Given the description of an element on the screen output the (x, y) to click on. 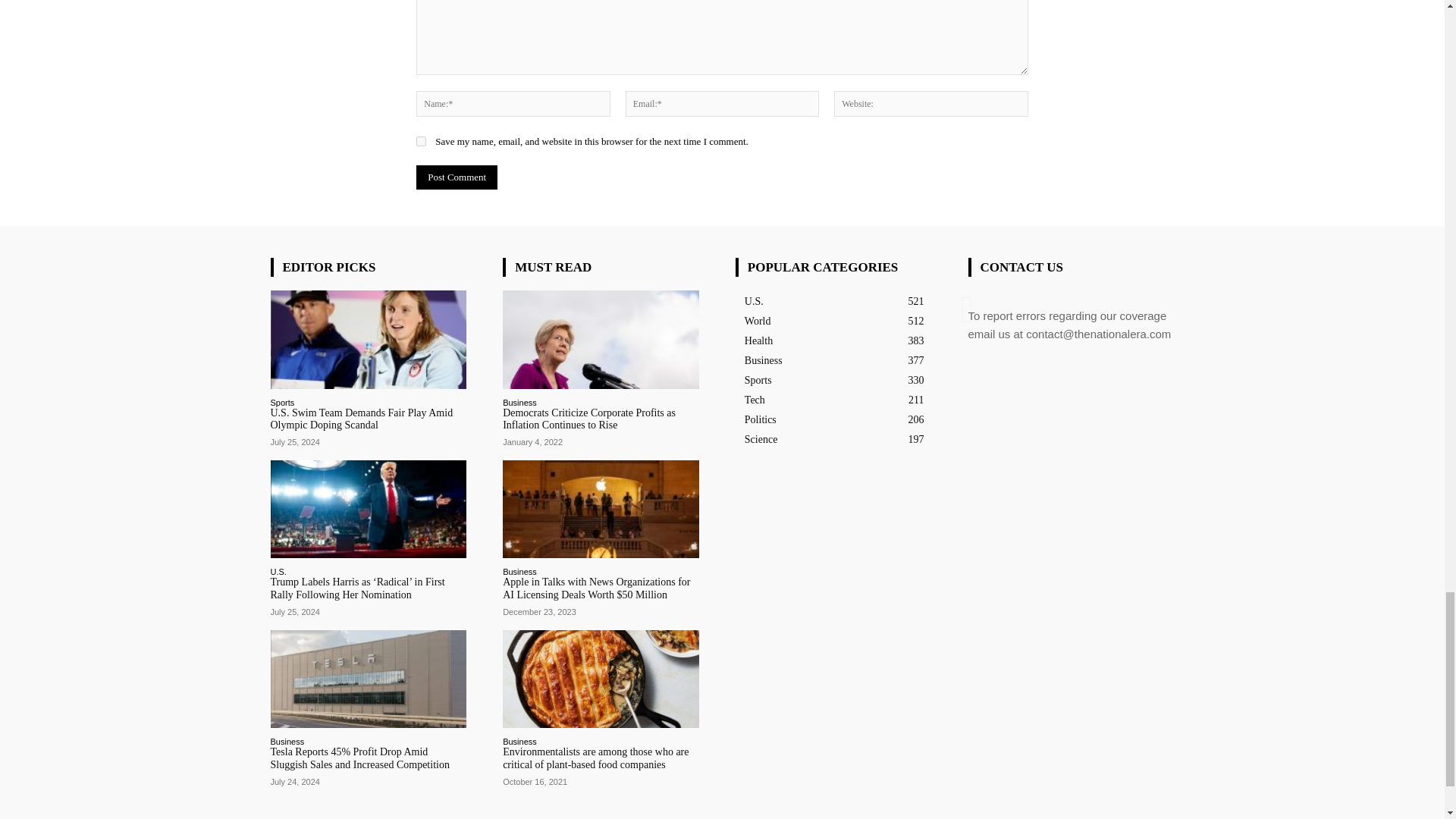
yes (421, 141)
Post Comment (456, 177)
